Given the description of an element on the screen output the (x, y) to click on. 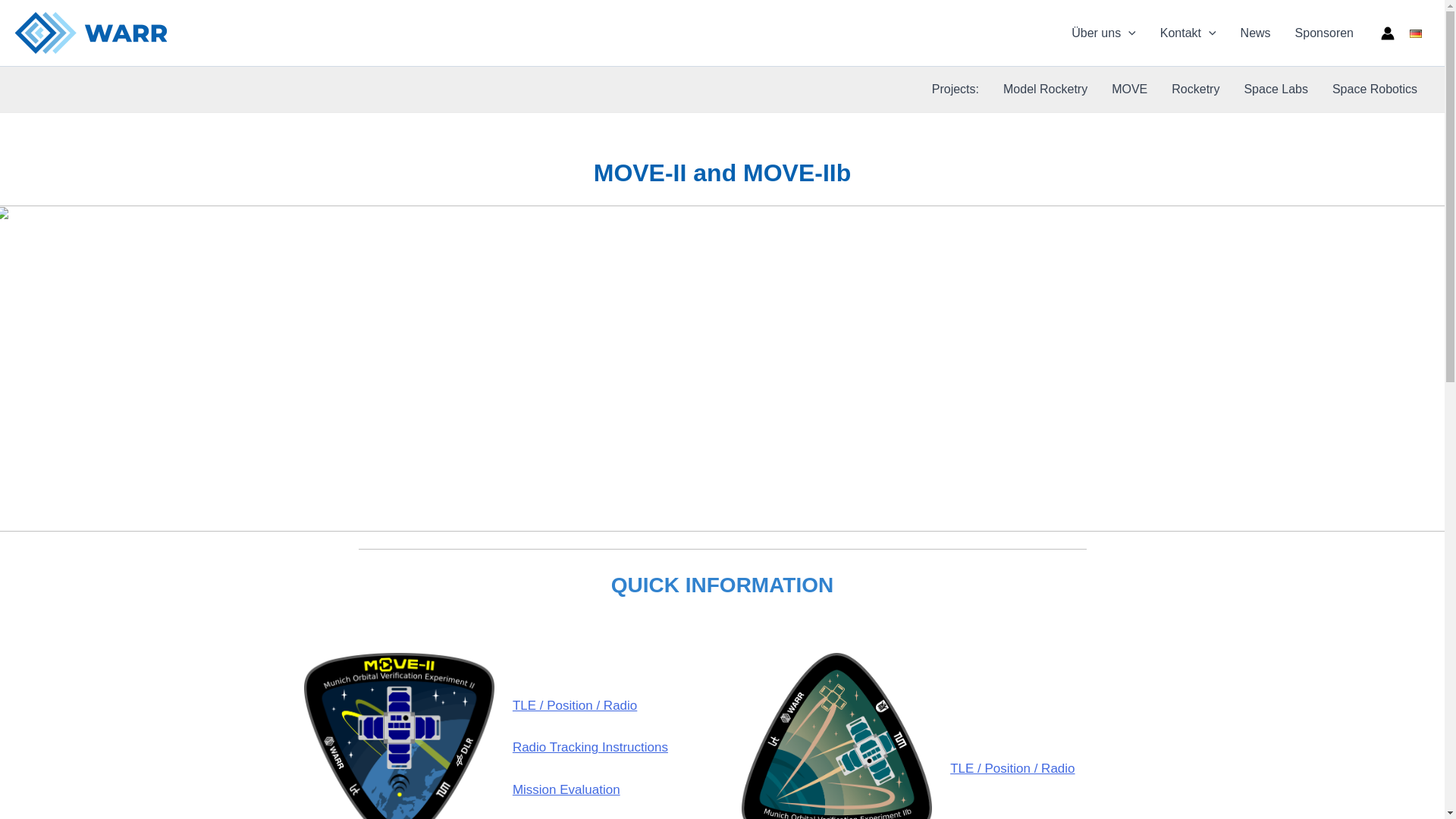
Projects: (955, 89)
Sponsoren (1323, 33)
Kontakt (1188, 33)
Rocketry (1194, 89)
Space Robotics (1374, 89)
Model Rocketry (1045, 89)
MOVE (1128, 89)
News (1255, 33)
Space Labs (1275, 89)
